Given the description of an element on the screen output the (x, y) to click on. 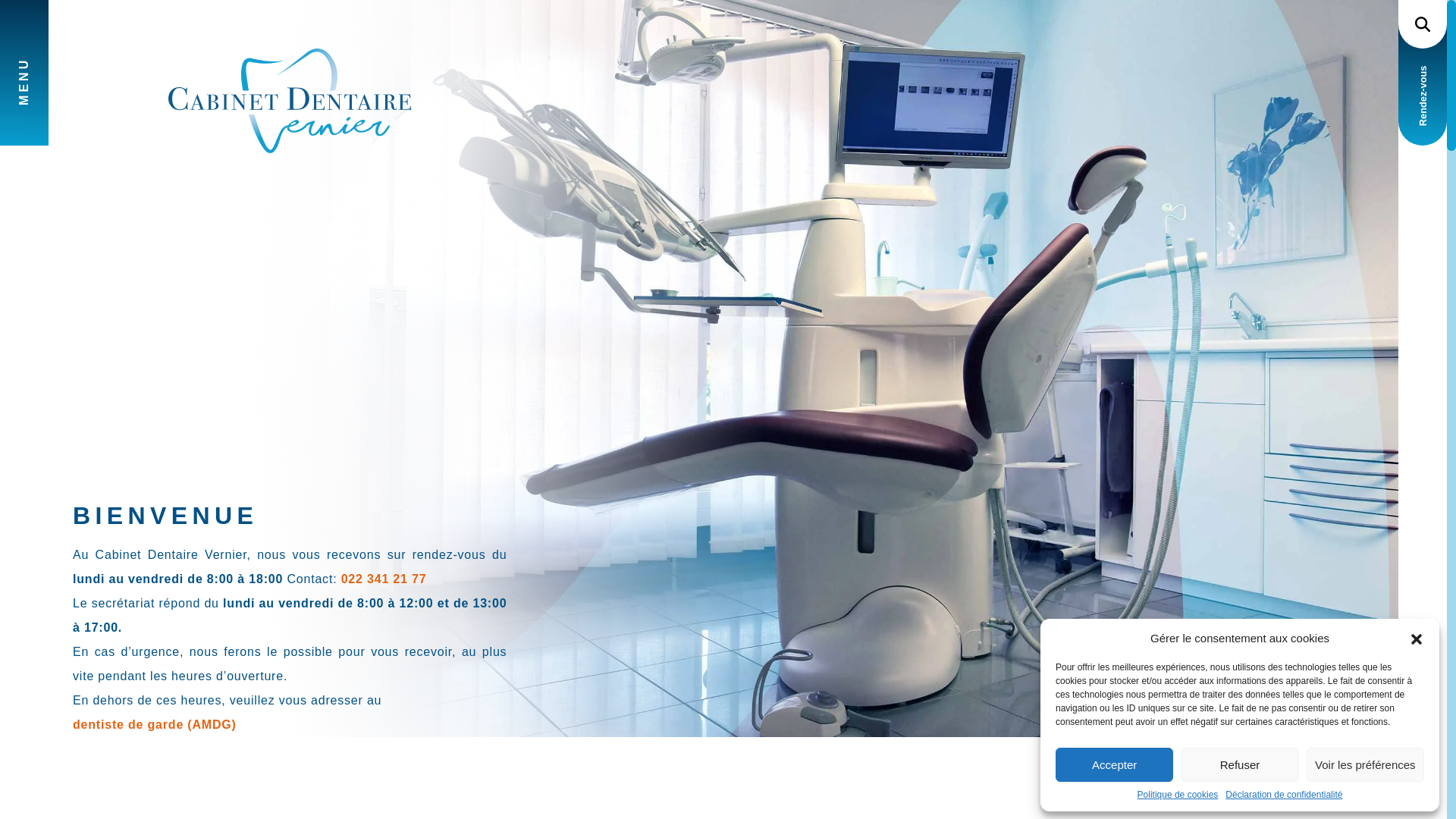
Accepter Element type: text (1114, 764)
Refuser Element type: text (1239, 764)
dentiste de garde (AMDG) Element type: text (226, 737)
Politique de cookies Element type: text (1177, 794)
022 341 21 77 Element type: text (383, 579)
